Given the description of an element on the screen output the (x, y) to click on. 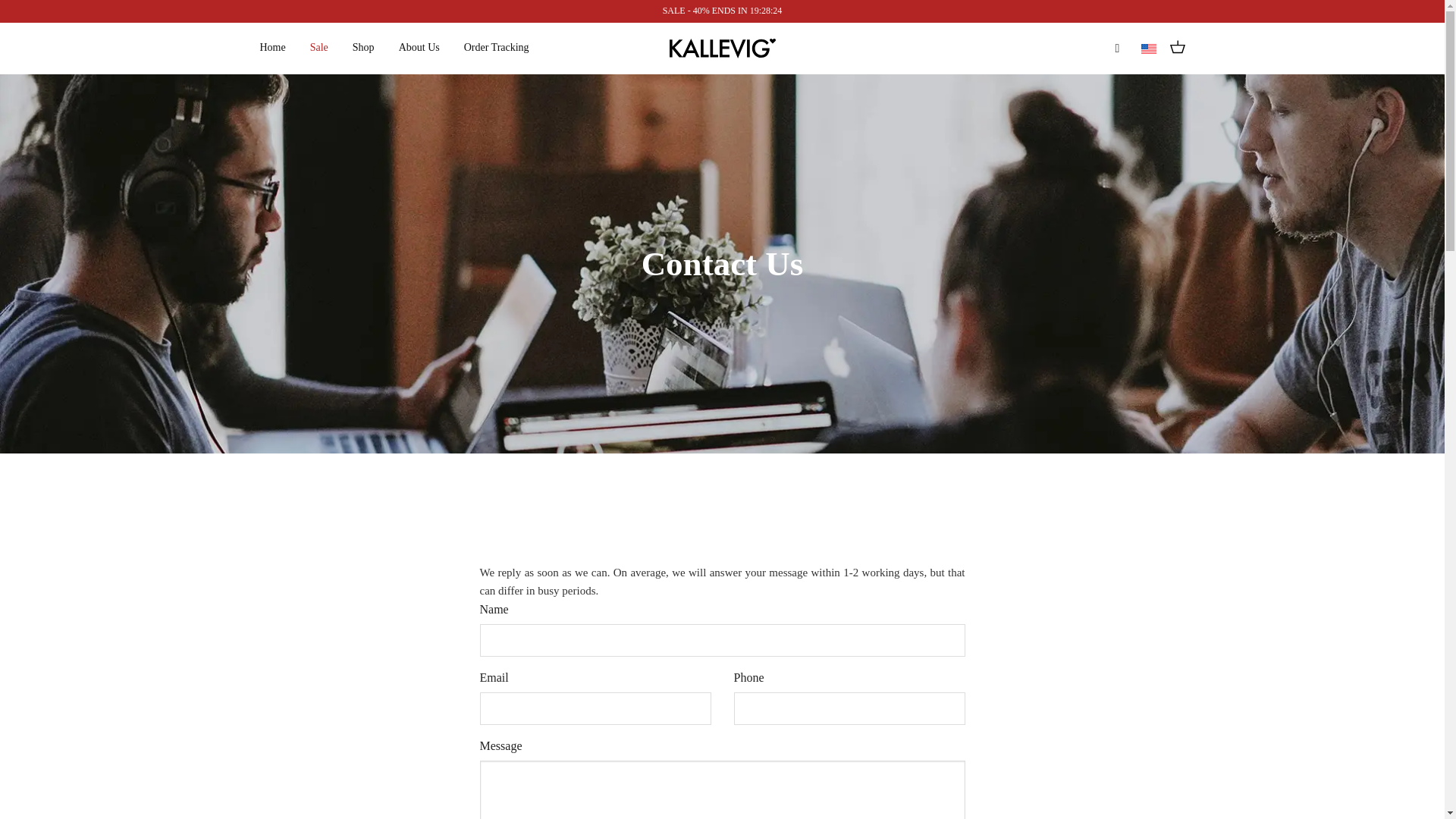
Home (272, 47)
Cart (1177, 48)
Sale (319, 47)
About Us (418, 47)
Shop (363, 47)
Order Tracking (496, 47)
